Given the description of an element on the screen output the (x, y) to click on. 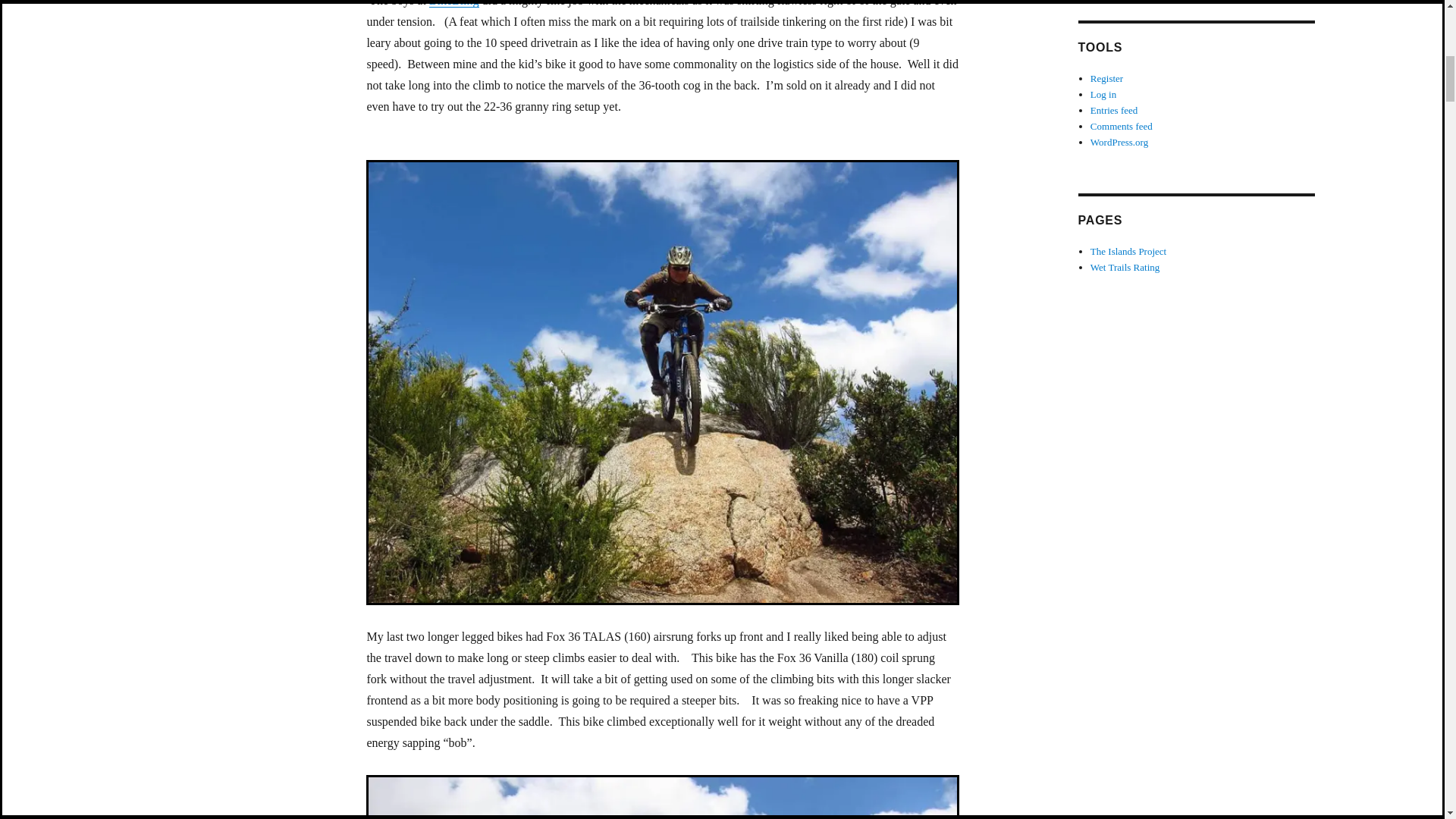
BikeBling (454, 3)
